Given the description of an element on the screen output the (x, y) to click on. 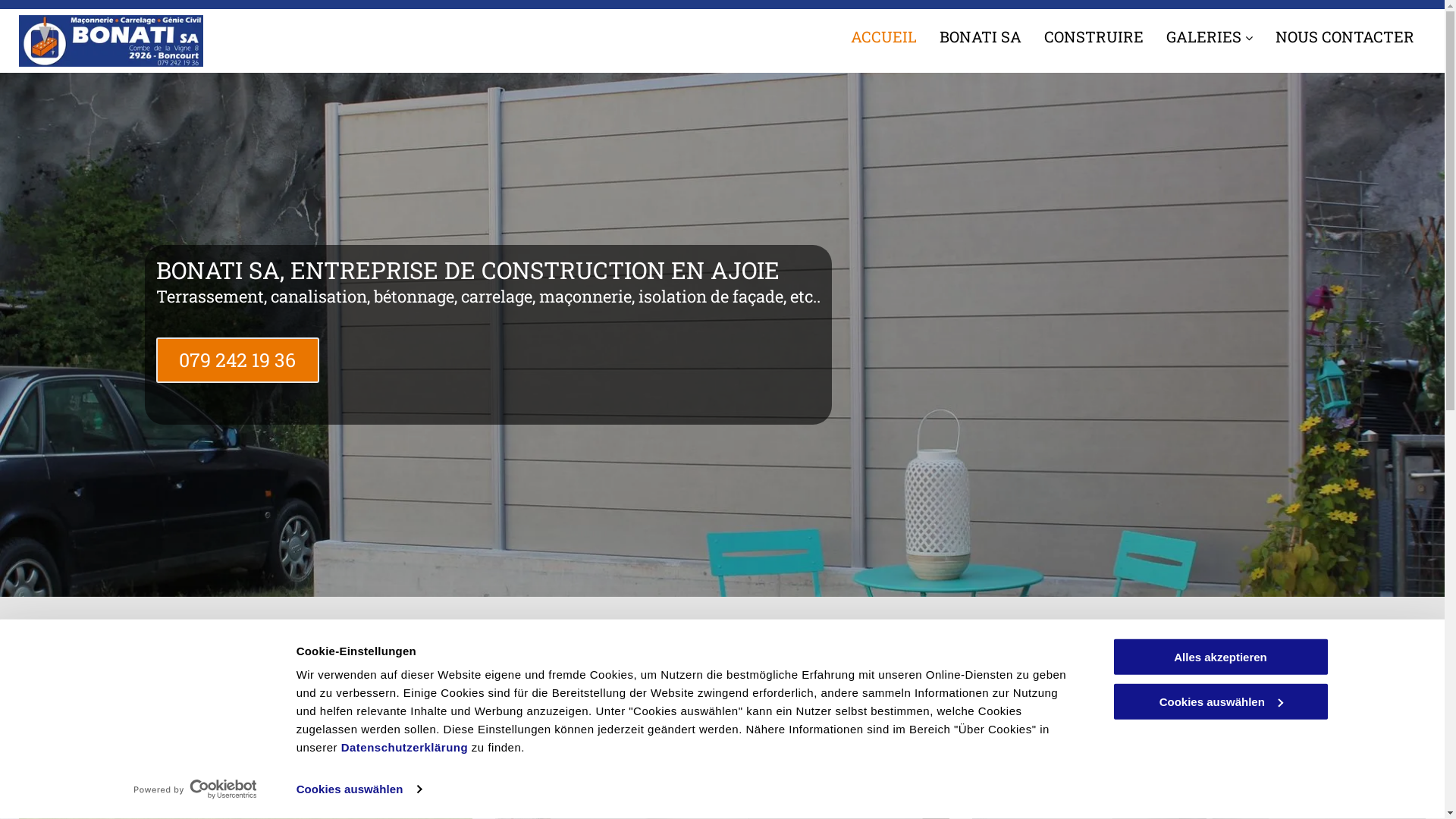
BONATI SA Element type: text (980, 36)
GALERIES Element type: text (1209, 36)
NOUS CONTACTER Element type: text (1344, 36)
CONSTRUIRE Element type: text (1093, 36)
ACCUEIL Element type: text (883, 36)
Alles akzeptieren Element type: text (1219, 656)
